Given the description of an element on the screen output the (x, y) to click on. 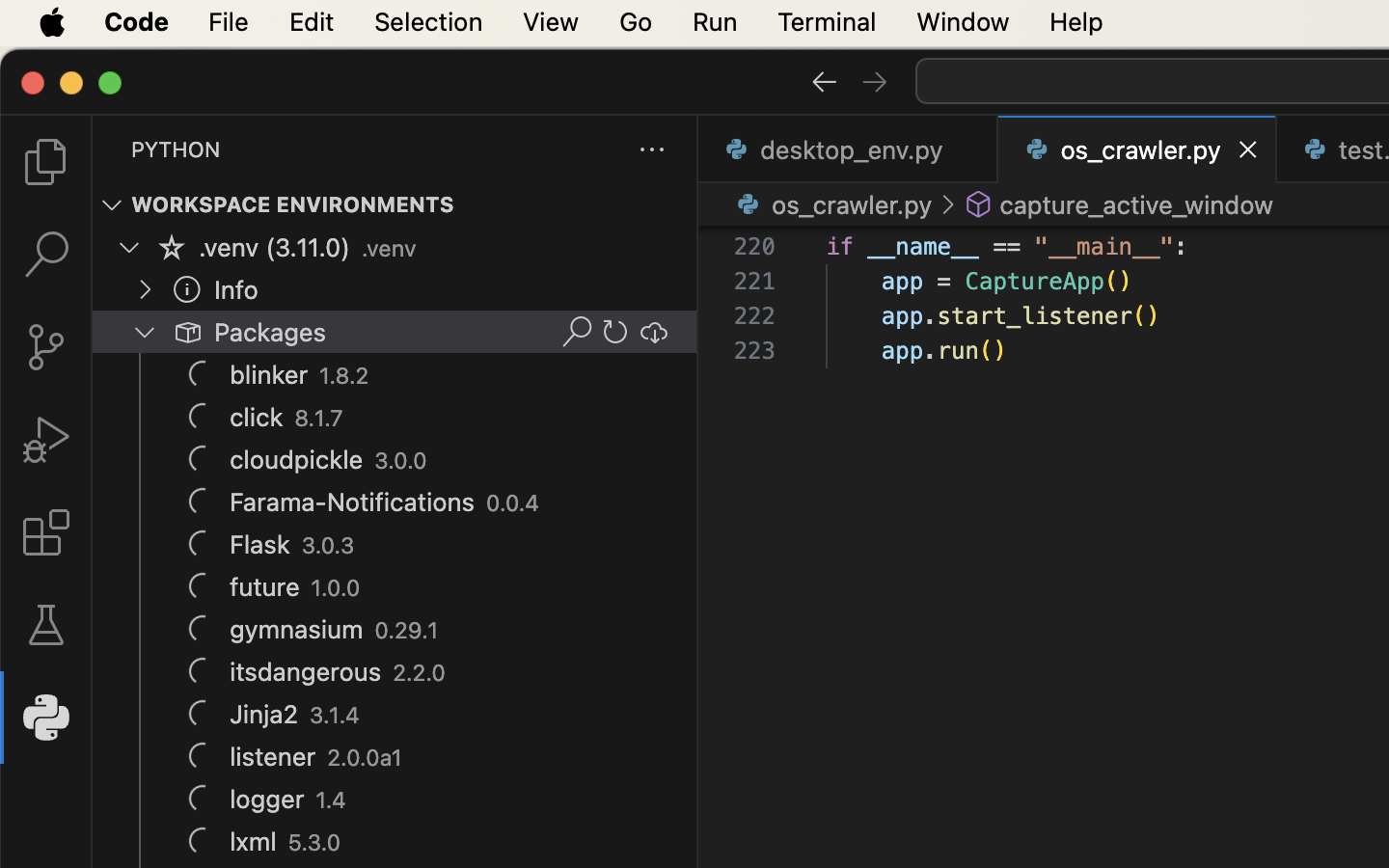
 Element type: AXButton (653, 331)
itsdangerous Element type: AXStaticText (305, 671)
Packages Element type: AXStaticText (270, 332)
0  Element type: AXRadioButton (46, 346)
click Element type: AXStaticText (256, 417)
